Given the description of an element on the screen output the (x, y) to click on. 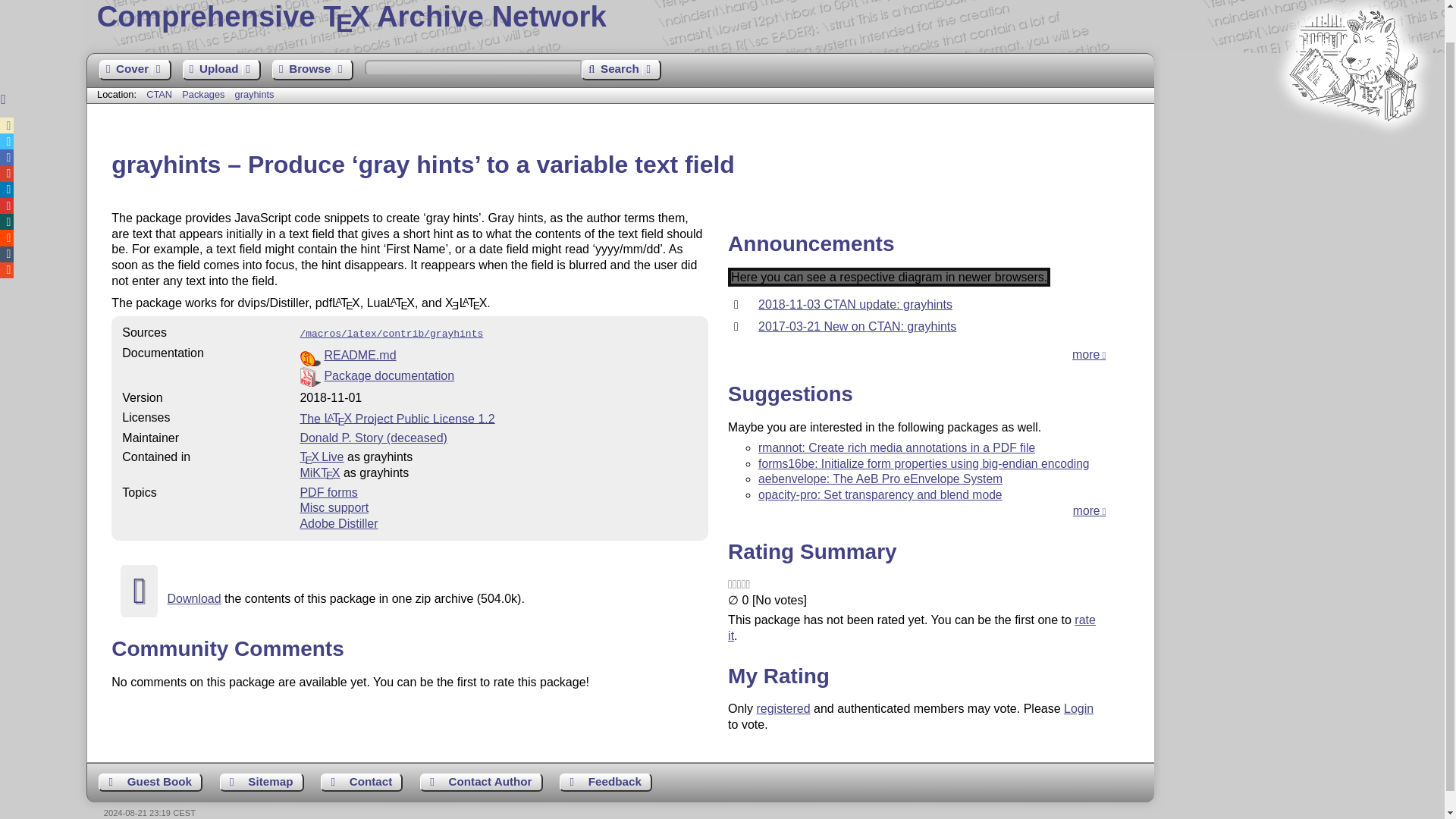
README.md (359, 354)
CTAN lion drawing by Duane Bibby (1353, 149)
Read Me file (498, 355)
Packages (204, 93)
CTAN (159, 93)
Show the structure of this site (261, 782)
Browse (312, 69)
grayhints (254, 93)
Send feedback on the current web page to the Web masters (605, 782)
Leave some words for other visitors (150, 782)
